Given the description of an element on the screen output the (x, y) to click on. 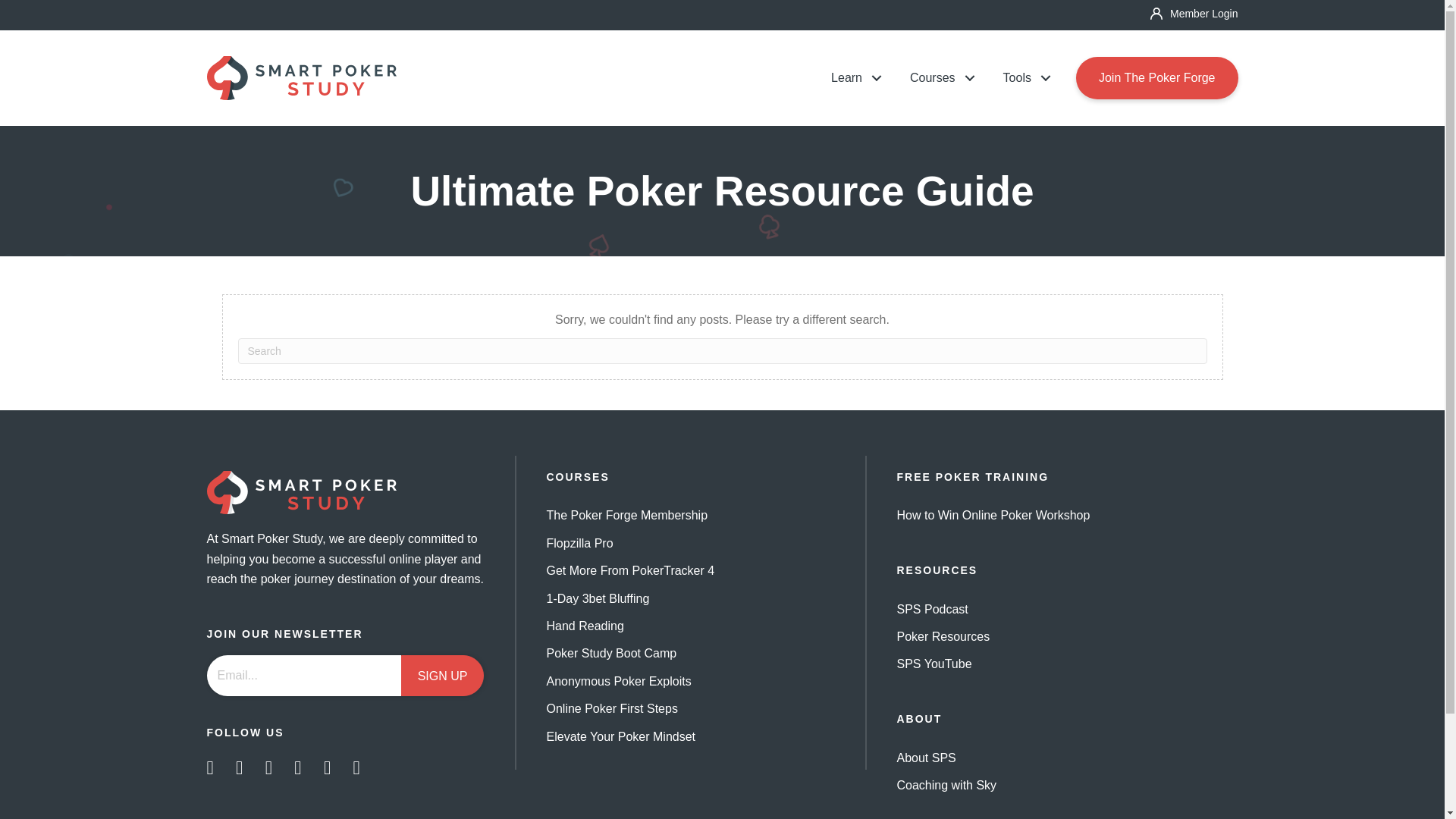
SPS-Logo-White (301, 492)
Member Login (1194, 13)
SIGN UP (442, 675)
Learn (851, 78)
Join The Poker Forge (1157, 77)
Tools (1022, 78)
SPS-Logo (301, 77)
Courses (937, 78)
Type and press Enter to search. (722, 350)
COURSES (577, 476)
